Given the description of an element on the screen output the (x, y) to click on. 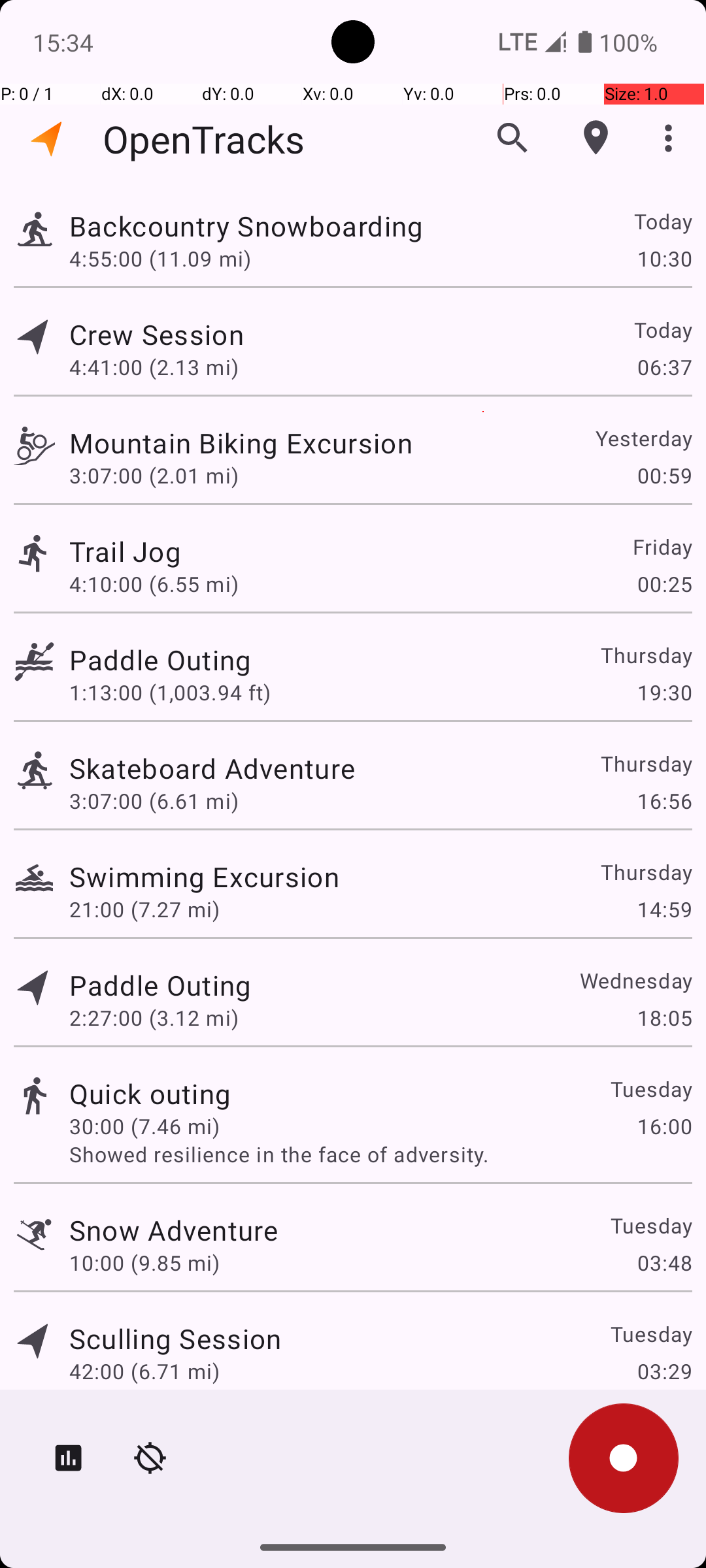
Backcountry Snowboarding Element type: android.widget.TextView (246, 225)
4:55:00 (11.09 mi) Element type: android.widget.TextView (159, 258)
10:30 Element type: android.widget.TextView (664, 258)
Crew Session Element type: android.widget.TextView (156, 333)
4:41:00 (2.13 mi) Element type: android.widget.TextView (153, 366)
06:37 Element type: android.widget.TextView (664, 366)
Mountain Biking Excursion Element type: android.widget.TextView (240, 442)
3:07:00 (2.01 mi) Element type: android.widget.TextView (153, 475)
00:59 Element type: android.widget.TextView (664, 475)
Trail Jog Element type: android.widget.TextView (124, 550)
4:10:00 (6.55 mi) Element type: android.widget.TextView (153, 583)
00:25 Element type: android.widget.TextView (664, 583)
Paddle Outing Element type: android.widget.TextView (159, 659)
1:13:00 (1,003.94 ft) Element type: android.widget.TextView (169, 692)
19:30 Element type: android.widget.TextView (664, 692)
Skateboard Adventure Element type: android.widget.TextView (211, 767)
3:07:00 (6.61 mi) Element type: android.widget.TextView (153, 800)
16:56 Element type: android.widget.TextView (664, 800)
Swimming Excursion Element type: android.widget.TextView (203, 876)
21:00 (7.27 mi) Element type: android.widget.TextView (144, 909)
14:59 Element type: android.widget.TextView (664, 909)
2:27:00 (3.12 mi) Element type: android.widget.TextView (153, 1017)
18:05 Element type: android.widget.TextView (664, 1017)
Quick outing Element type: android.widget.TextView (149, 1092)
30:00 (7.46 mi) Element type: android.widget.TextView (144, 1125)
Showed resilience in the face of adversity. Element type: android.widget.TextView (380, 1154)
Snow Adventure Element type: android.widget.TextView (173, 1229)
10:00 (9.85 mi) Element type: android.widget.TextView (144, 1262)
03:48 Element type: android.widget.TextView (664, 1262)
Sculling Session Element type: android.widget.TextView (174, 1337)
42:00 (6.71 mi) Element type: android.widget.TextView (144, 1370)
03:29 Element type: android.widget.TextView (664, 1370)
